Given the description of an element on the screen output the (x, y) to click on. 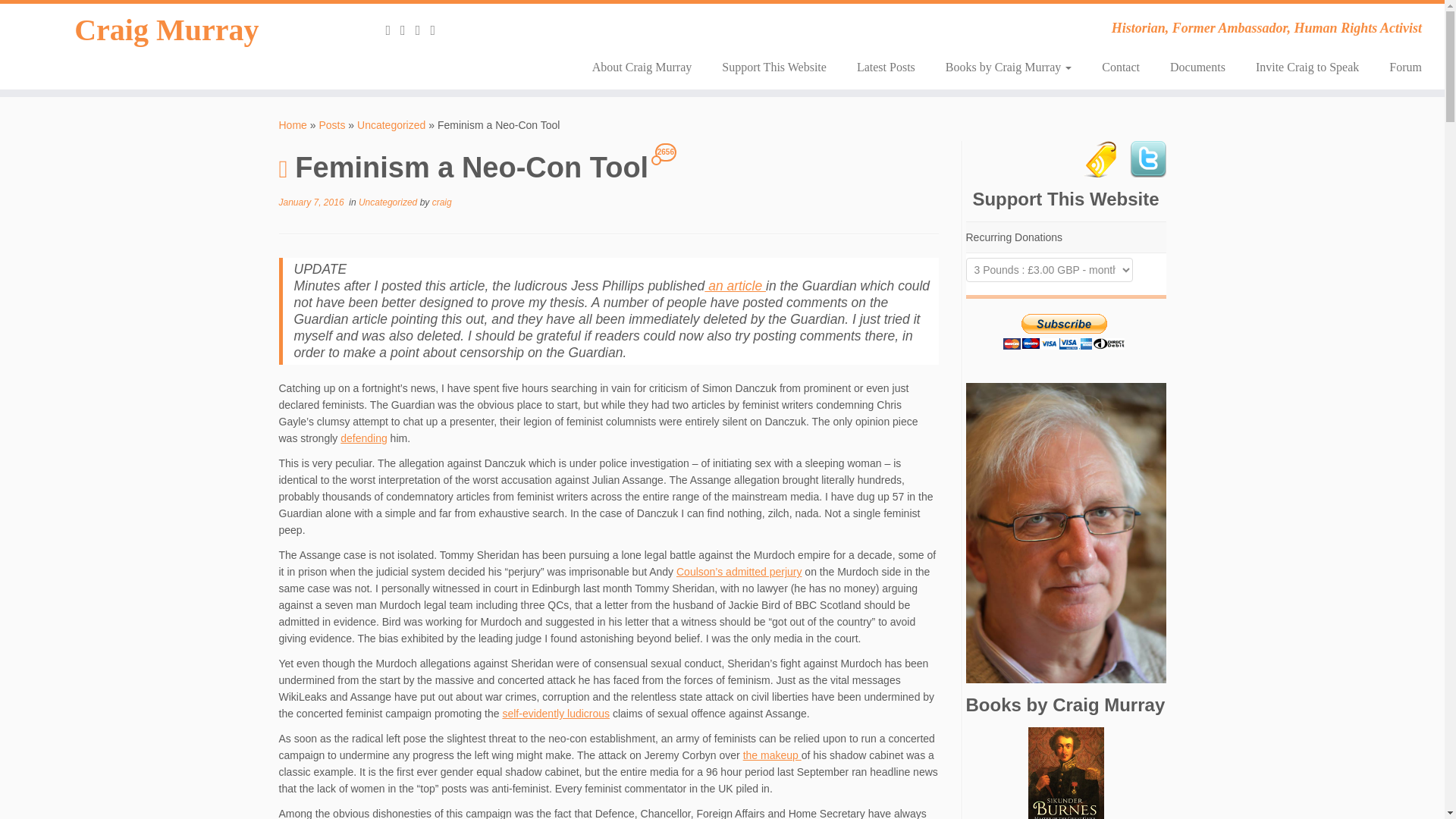
Uncategorized (390, 124)
the makeup (772, 755)
Documents (1197, 67)
Subscribe to my rss feed (392, 29)
Craig Murray (293, 124)
Forum (1398, 67)
defending (363, 438)
Books by Craig Murray (1008, 67)
self-evidently ludicrous (556, 713)
Follow me on Facebook (437, 29)
Uncategorized (389, 202)
Invite Craig to Speak (1307, 67)
Latest Posts (885, 67)
Craig Murray (166, 30)
View all posts in Uncategorized (389, 202)
